Given the description of an element on the screen output the (x, y) to click on. 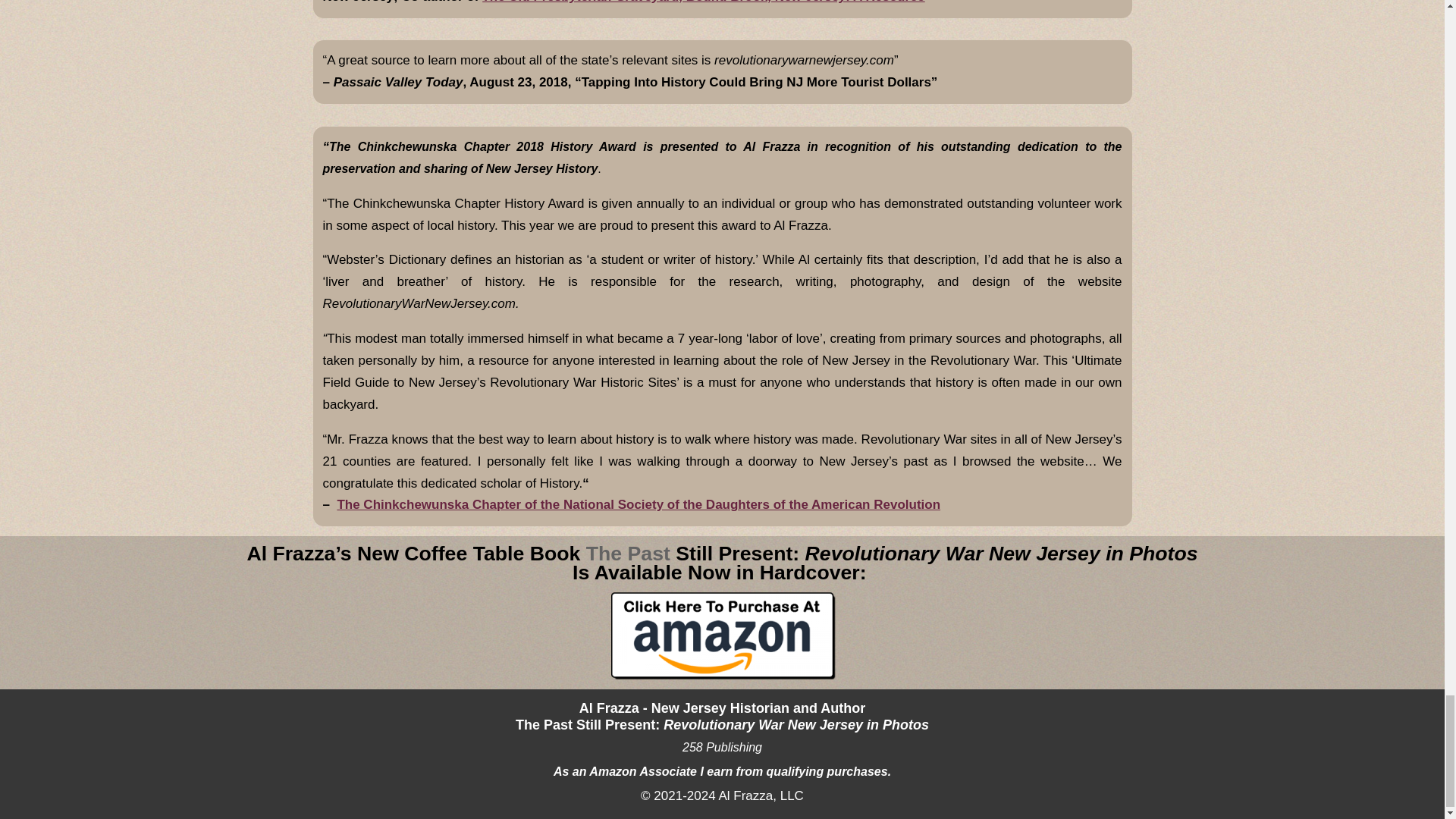
Purchase The Past Still Present at Amazon (721, 634)
